Given the description of an element on the screen output the (x, y) to click on. 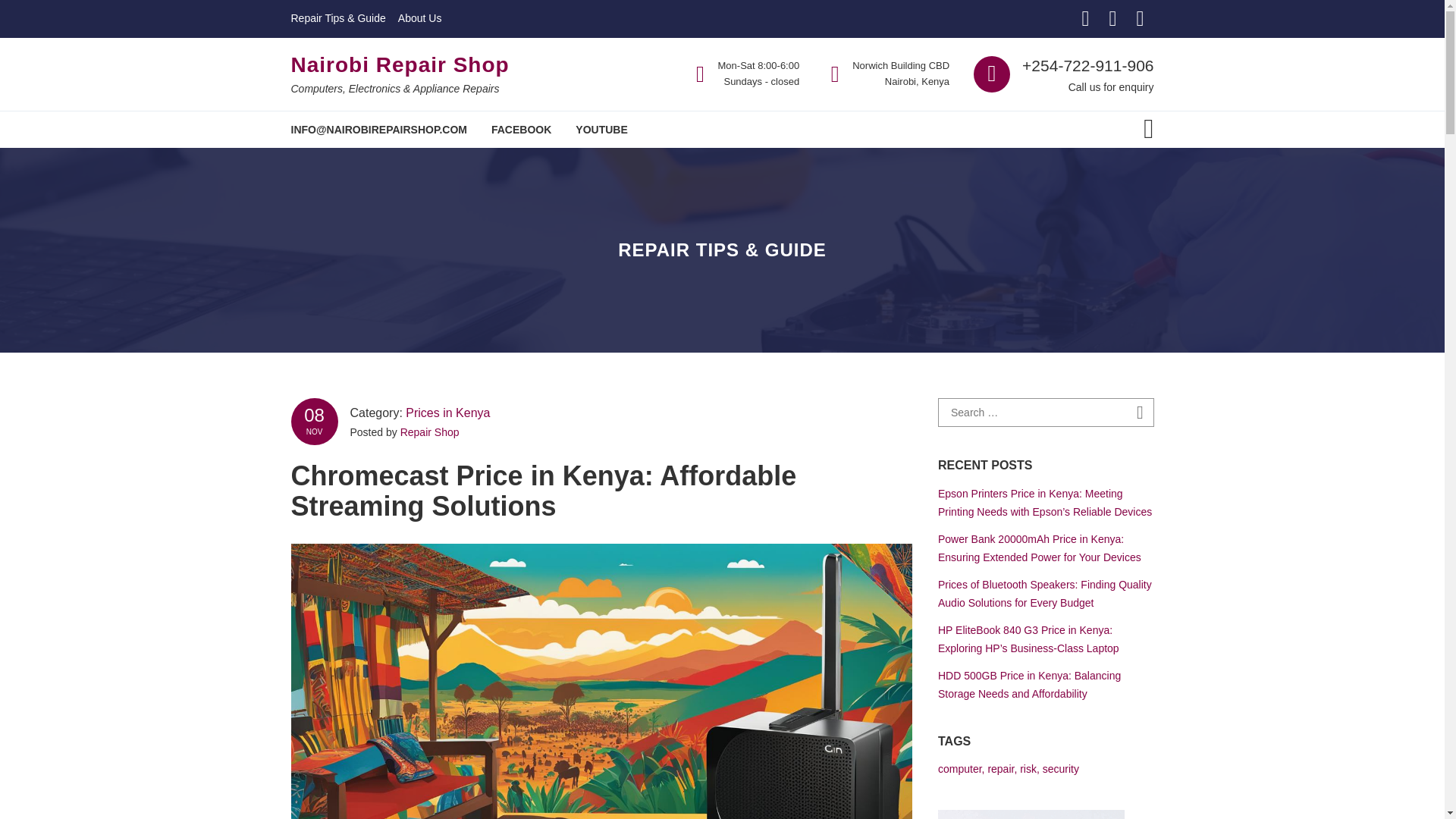
Search (1140, 412)
computer (959, 768)
risk (1028, 768)
Prices in Kenya (447, 412)
repair (1000, 768)
YOUTUBE (601, 129)
About Us (419, 18)
